Given the description of an element on the screen output the (x, y) to click on. 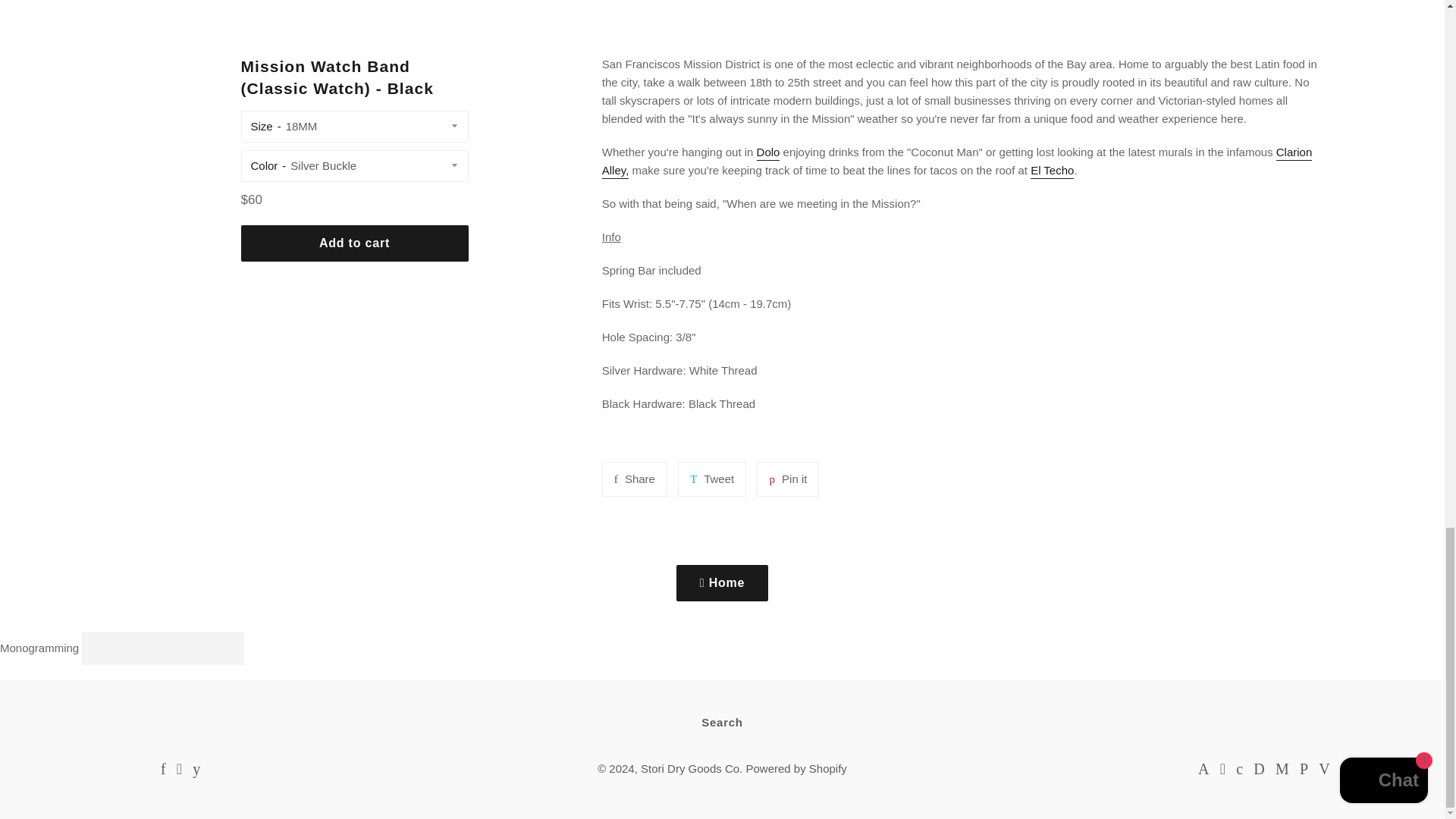
Home (722, 583)
Stori Dry Goods Co on Facebook (162, 769)
Dolo (768, 152)
Add to cart (354, 243)
Stori Dry Goods Co on YouTube (196, 769)
Search (721, 721)
Clarion Alley (957, 162)
Dolo (768, 152)
Stori Dry Goods Co on Instagram (179, 769)
Share on Facebook (787, 478)
Facebook (634, 478)
El Techo (162, 769)
Instagram (1052, 171)
